Given the description of an element on the screen output the (x, y) to click on. 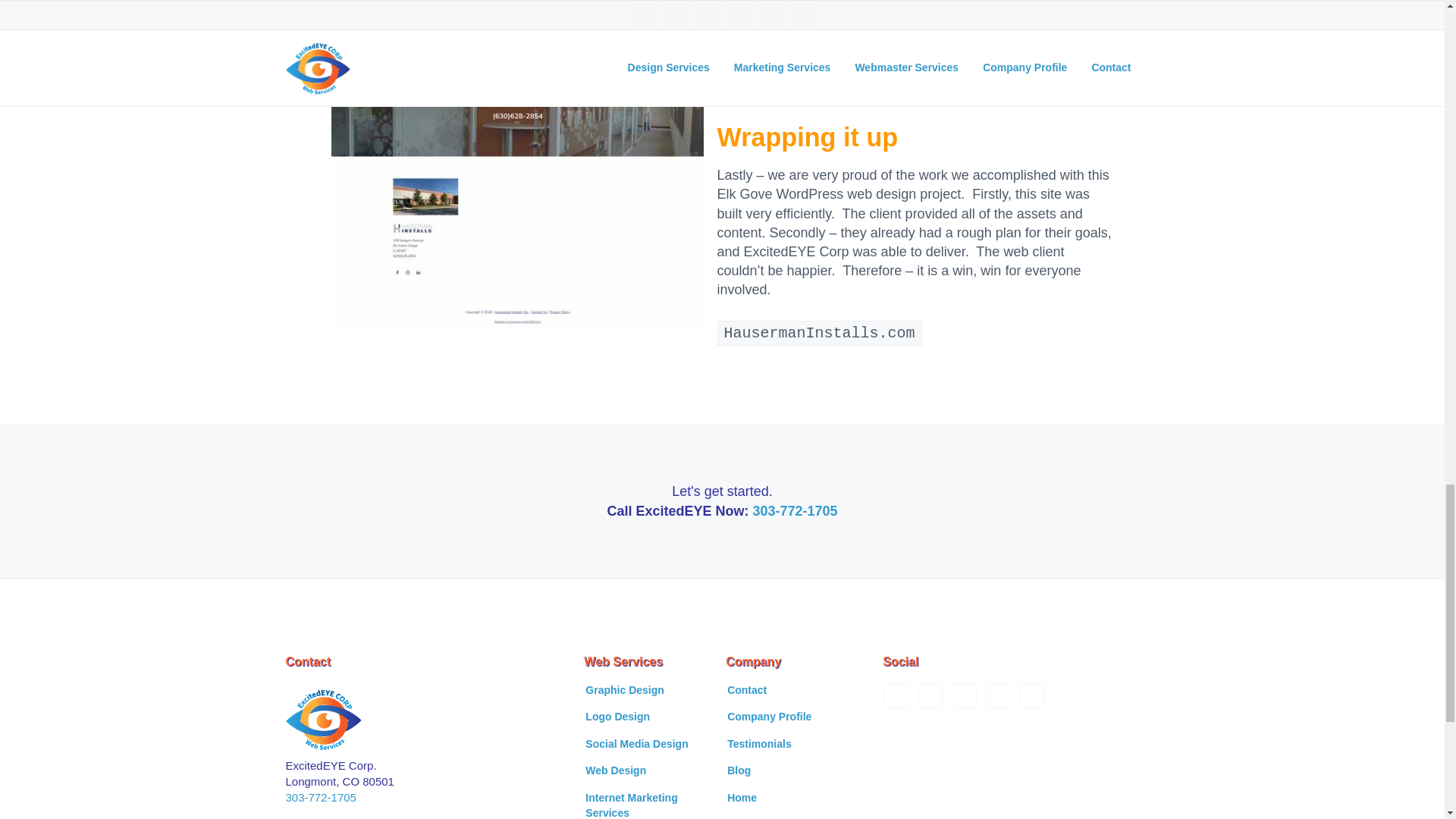
Social Media Design (636, 744)
Graphic Design (624, 690)
Logo Design (617, 717)
full Elk Grove Village WordPress web site design (516, 166)
303-772-1705 (794, 510)
303-772-1705 (320, 797)
Internet Marketing Services (650, 805)
Web Design (615, 770)
Contact (746, 690)
